Given the description of an element on the screen output the (x, y) to click on. 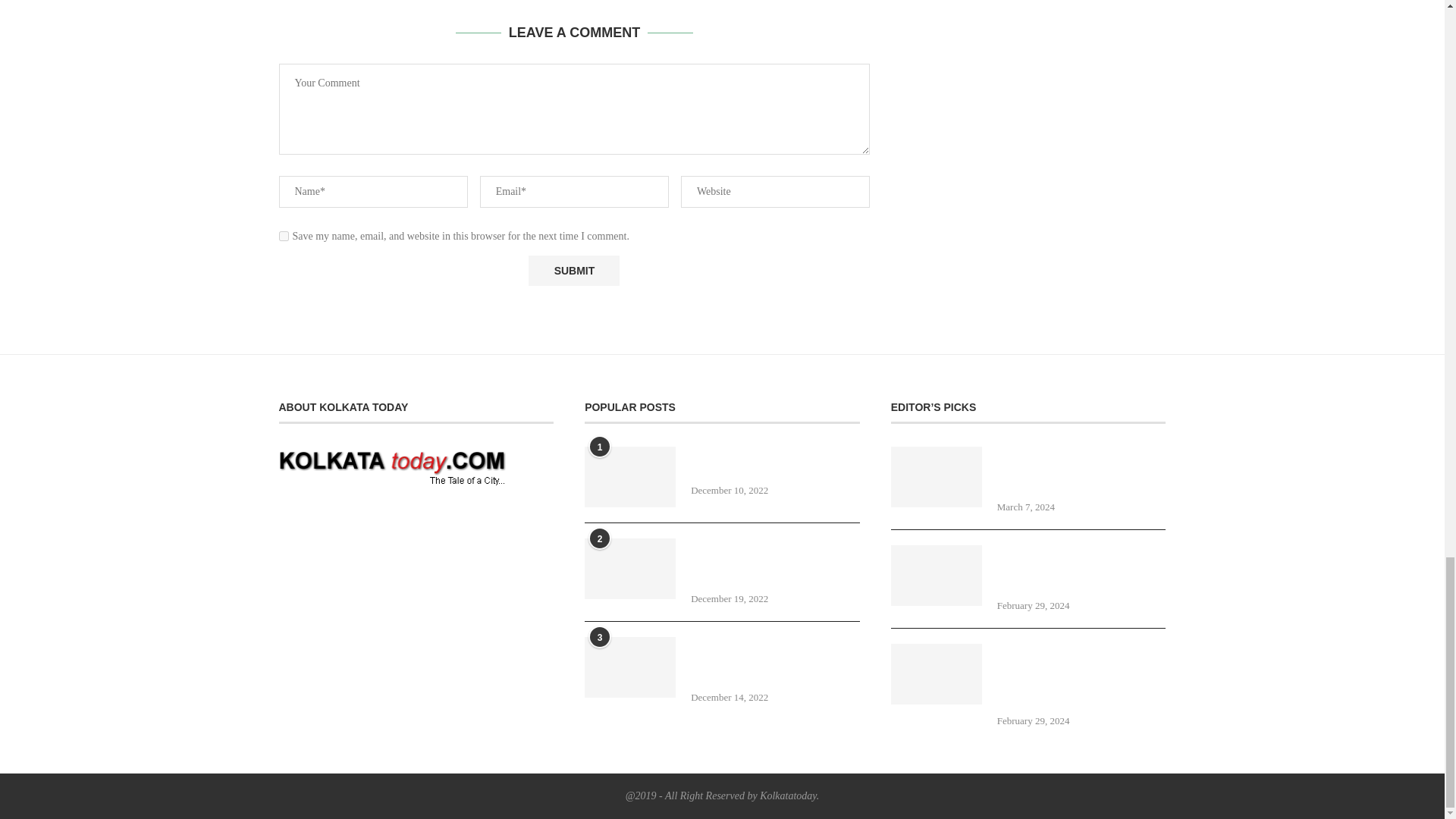
yes (283, 235)
Submit (574, 270)
